Given the description of an element on the screen output the (x, y) to click on. 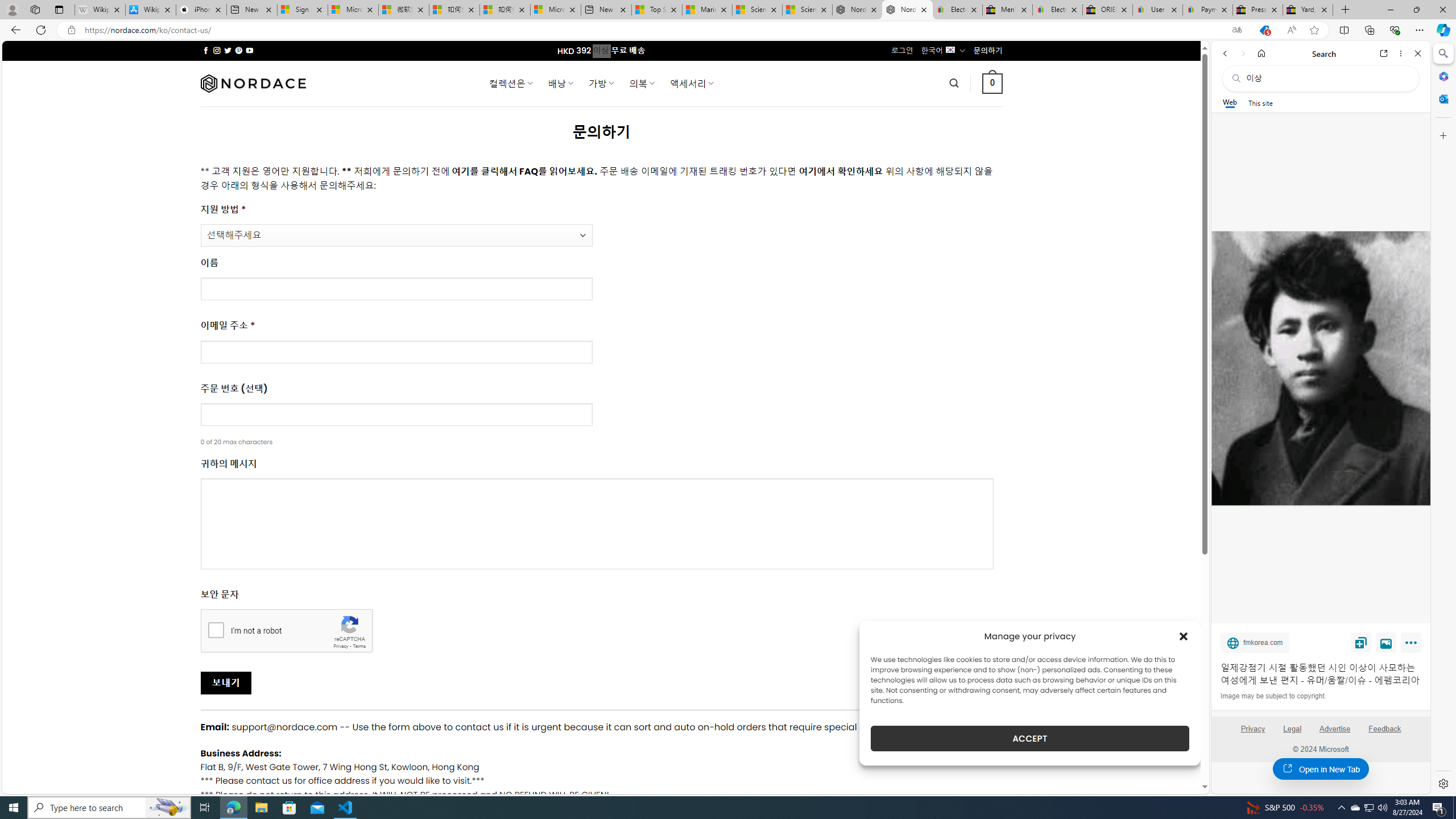
Save (1361, 642)
User Privacy Notice | eBay (1158, 9)
Follow on YouTube (249, 50)
Wikipedia - Sleeping (99, 9)
